Given the description of an element on the screen output the (x, y) to click on. 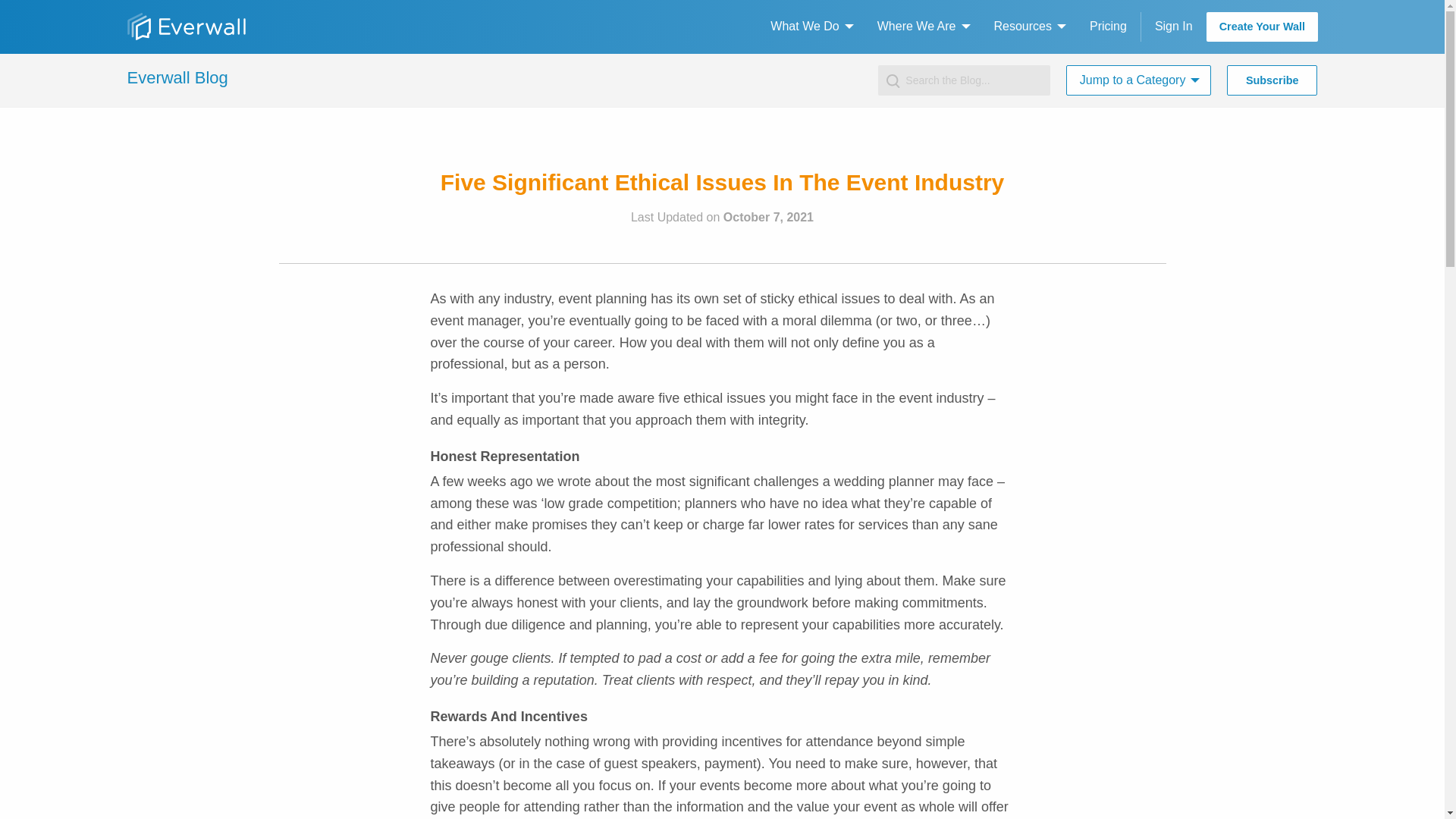
Jump to a Category (1135, 80)
Sign In (1172, 26)
Where We Are (919, 26)
Resources (1024, 26)
What We Do (807, 26)
Everwall Blog (178, 76)
Pricing (1107, 26)
Create Your Wall (1261, 26)
Search (30, 15)
